Given the description of an element on the screen output the (x, y) to click on. 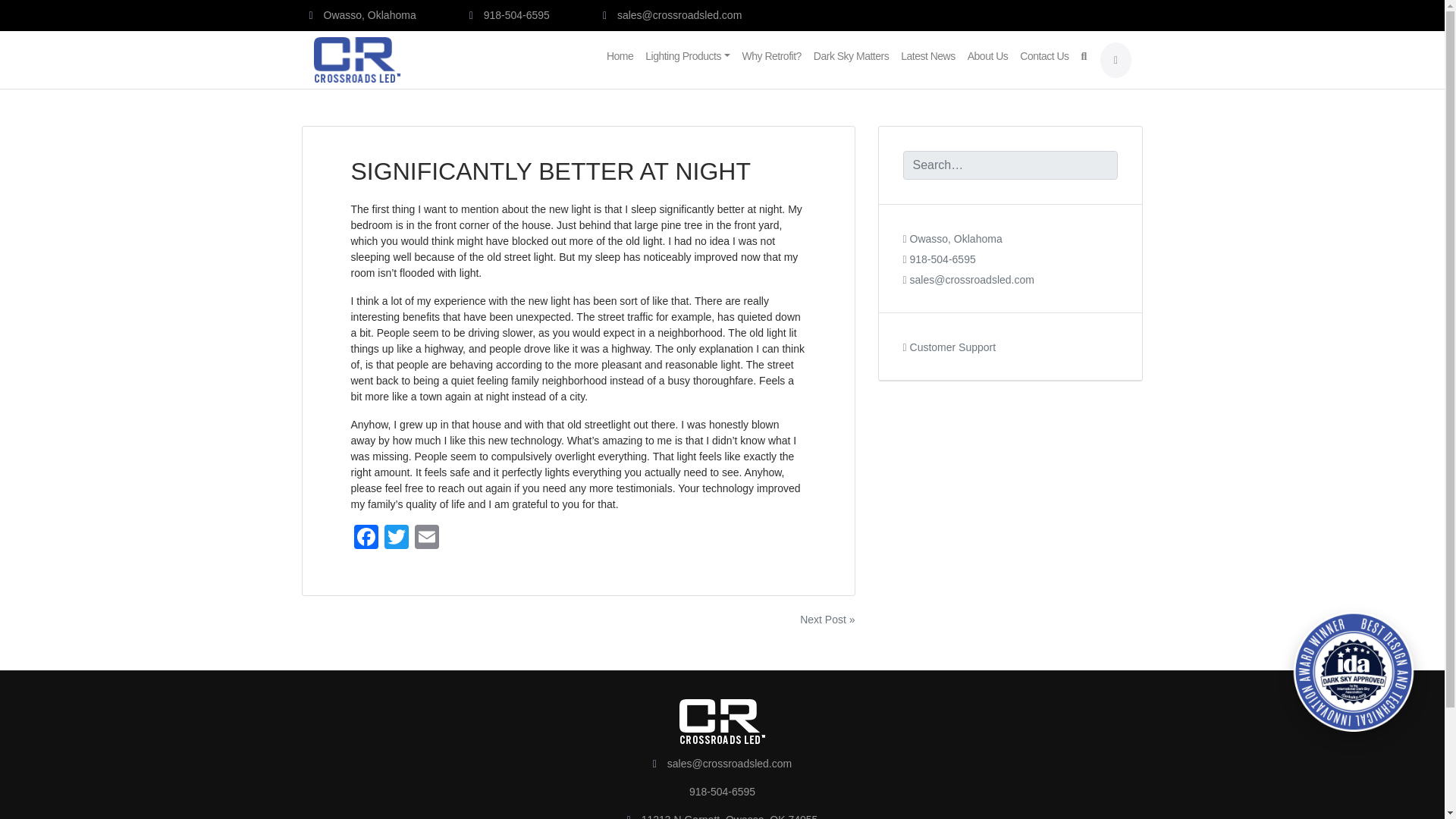
Customer Support (948, 337)
Why Retrofit? (772, 50)
CROSSROADS LED (485, 68)
About Us (987, 50)
Latest News (927, 50)
918-504-6595 (509, 15)
Dark Sky Matters (851, 50)
Lighting Products (687, 50)
Owasso, Oklahoma (362, 15)
918-504-6595 (938, 249)
